Given the description of an element on the screen output the (x, y) to click on. 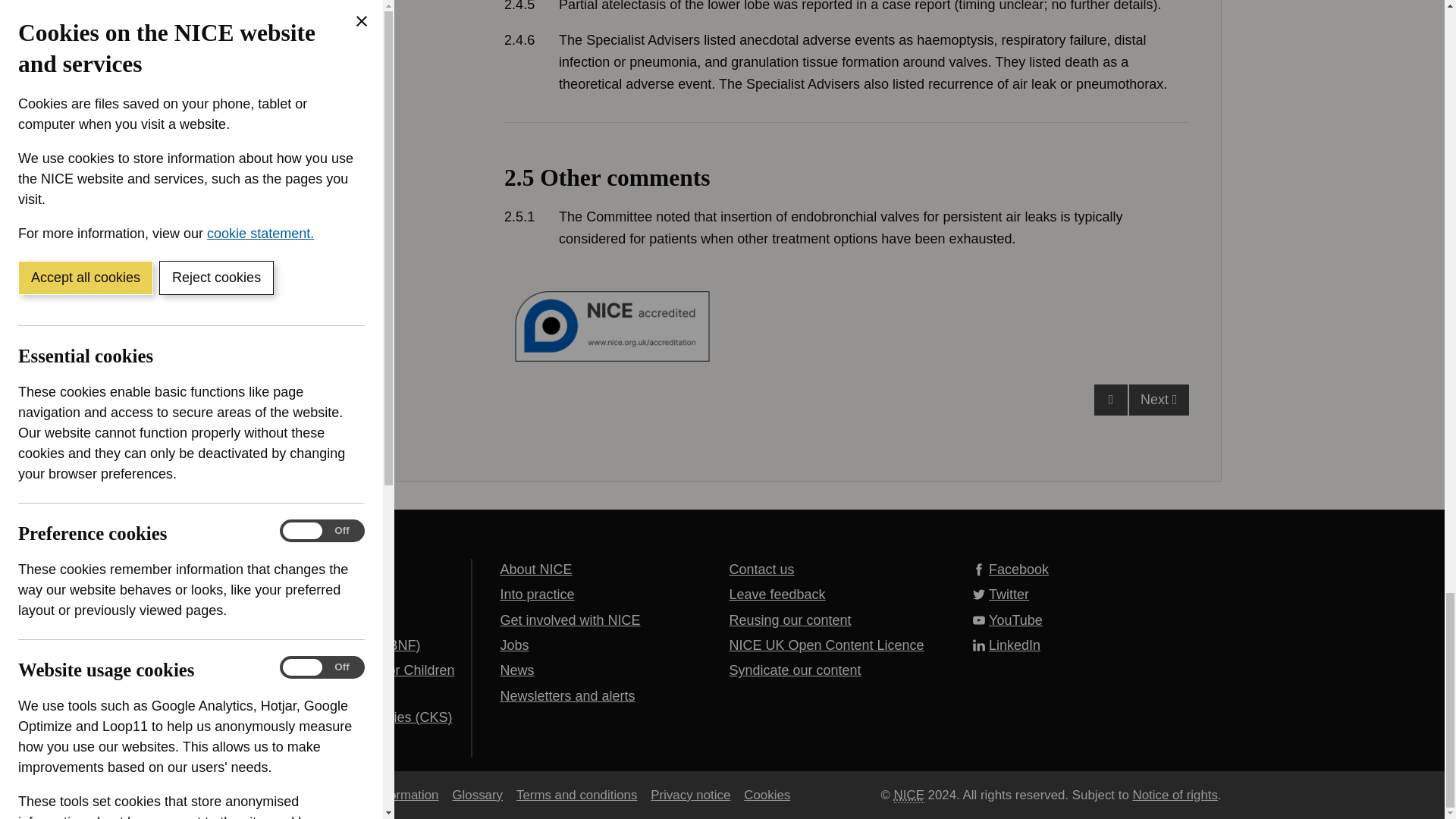
National Institute for Health and Care Excellence (908, 795)
2.5 Other comments (845, 185)
2.4 Safety (845, 47)
